Given the description of an element on the screen output the (x, y) to click on. 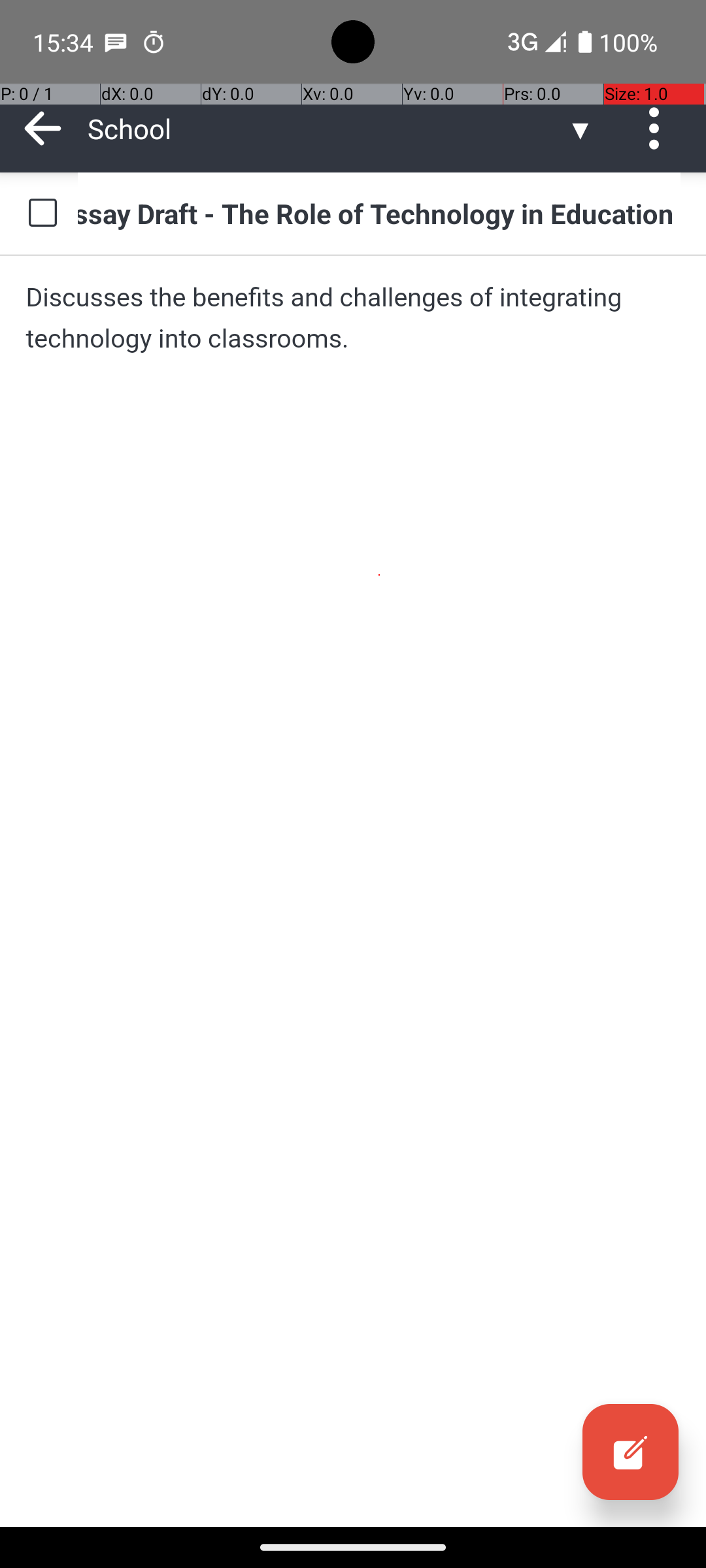
Edit, collapsed Element type: android.widget.Button (630, 1452)
School Element type: android.widget.TextView (326, 128)
 Element type: android.widget.TextView (630, 1451)
Discusses the benefits and challenges of integrating technology into classrooms. Element type: android.widget.TextView (352, 317)
